Given the description of an element on the screen output the (x, y) to click on. 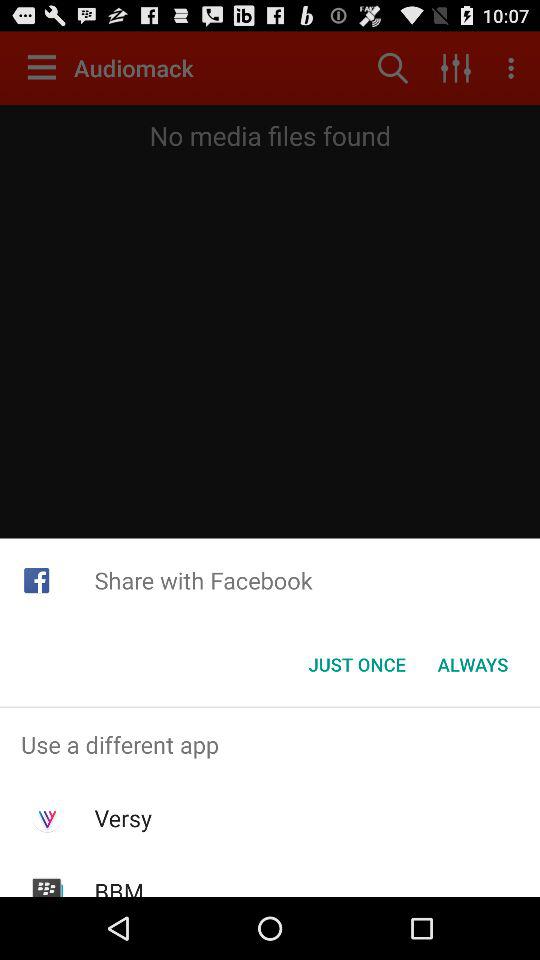
turn on app above the bbm icon (122, 817)
